Given the description of an element on the screen output the (x, y) to click on. 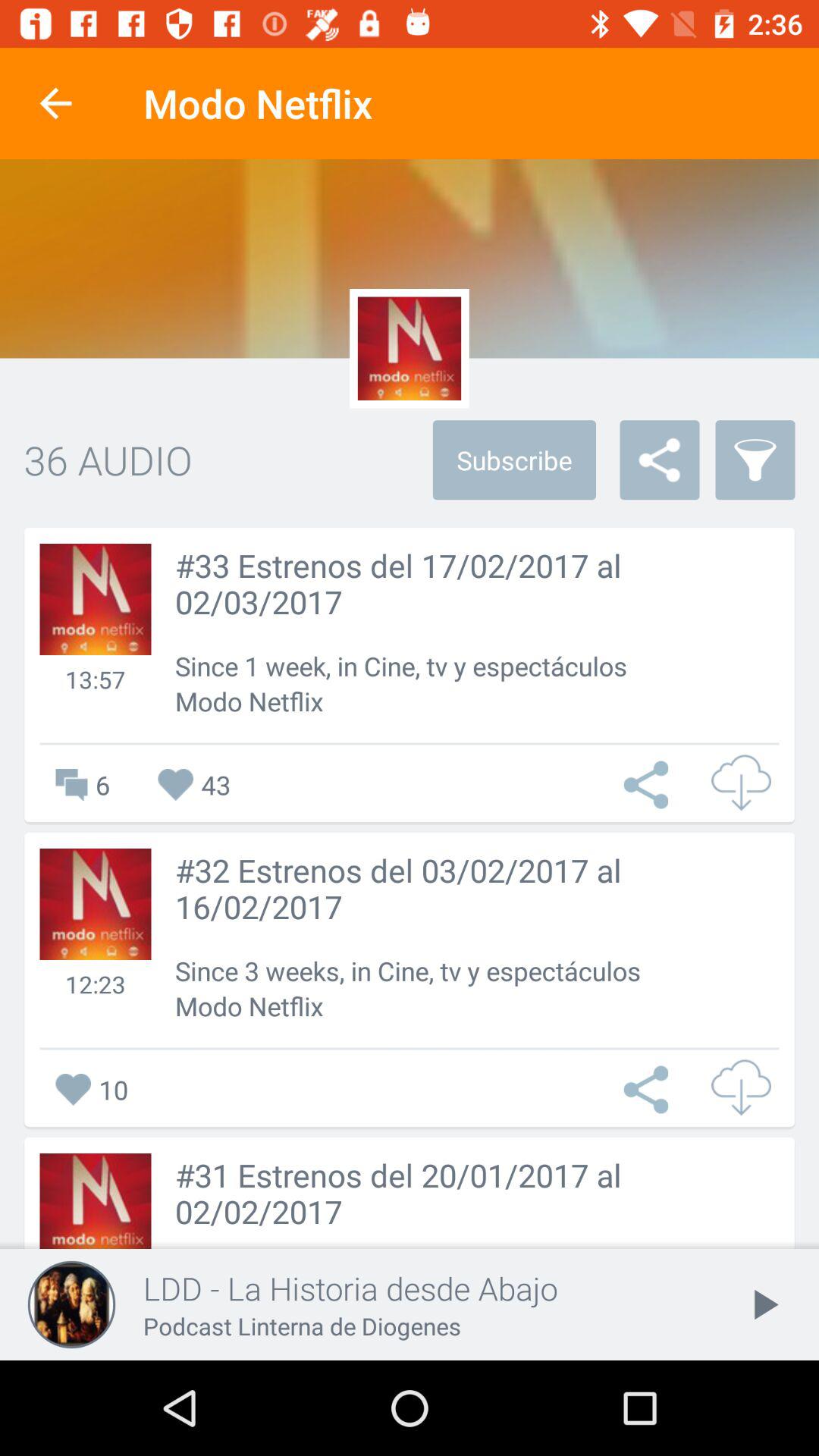
press the icon to the right of the ldd la historia item (763, 1304)
